Given the description of an element on the screen output the (x, y) to click on. 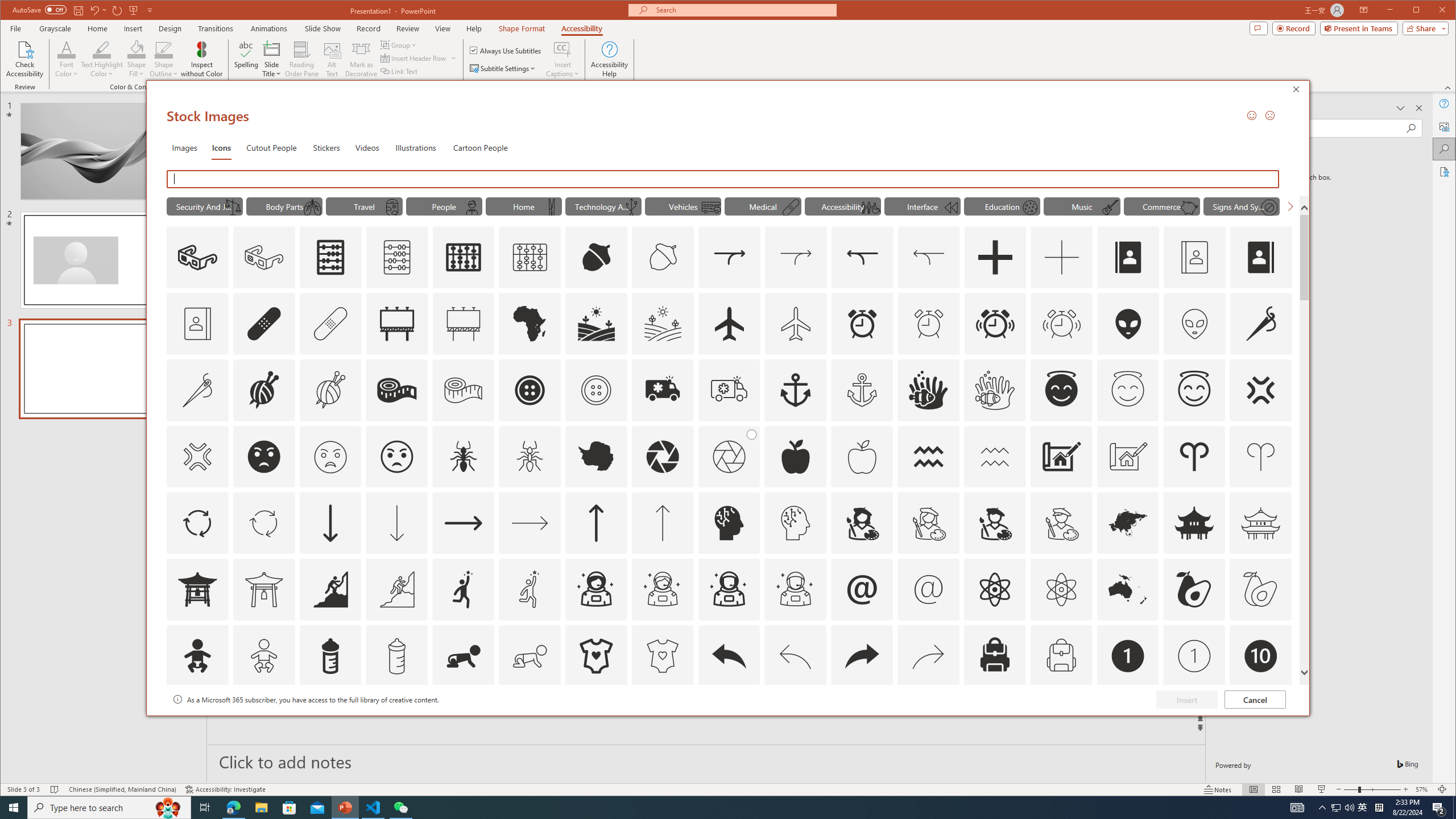
Microsoft Store (289, 807)
Search Icons (724, 179)
Cutout People (271, 147)
AutomationID: Icons_Ambulance (662, 389)
AutomationID: Icons_BabyBottle (330, 655)
AutomationID: Icons_Airplane_M (795, 323)
AutomationID: Icons_Architecture (1061, 456)
AutomationID: Icons_Backpack_M (1061, 655)
Icons (220, 147)
